Given the description of an element on the screen output the (x, y) to click on. 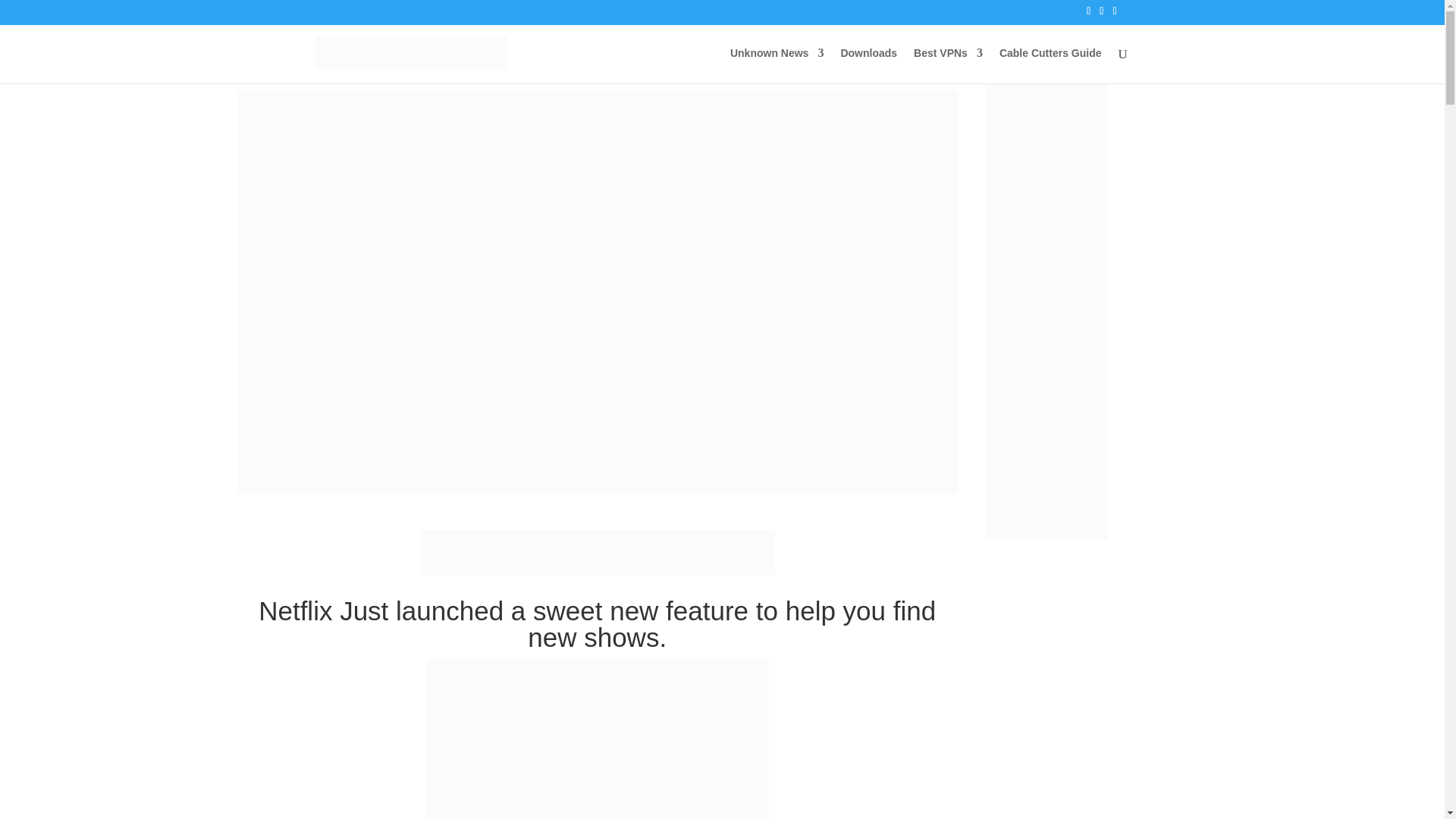
Unknown News (777, 65)
Best VPNs (948, 65)
Cable Cutters Guide (1050, 65)
Downloads (868, 65)
